Given the description of an element on the screen output the (x, y) to click on. 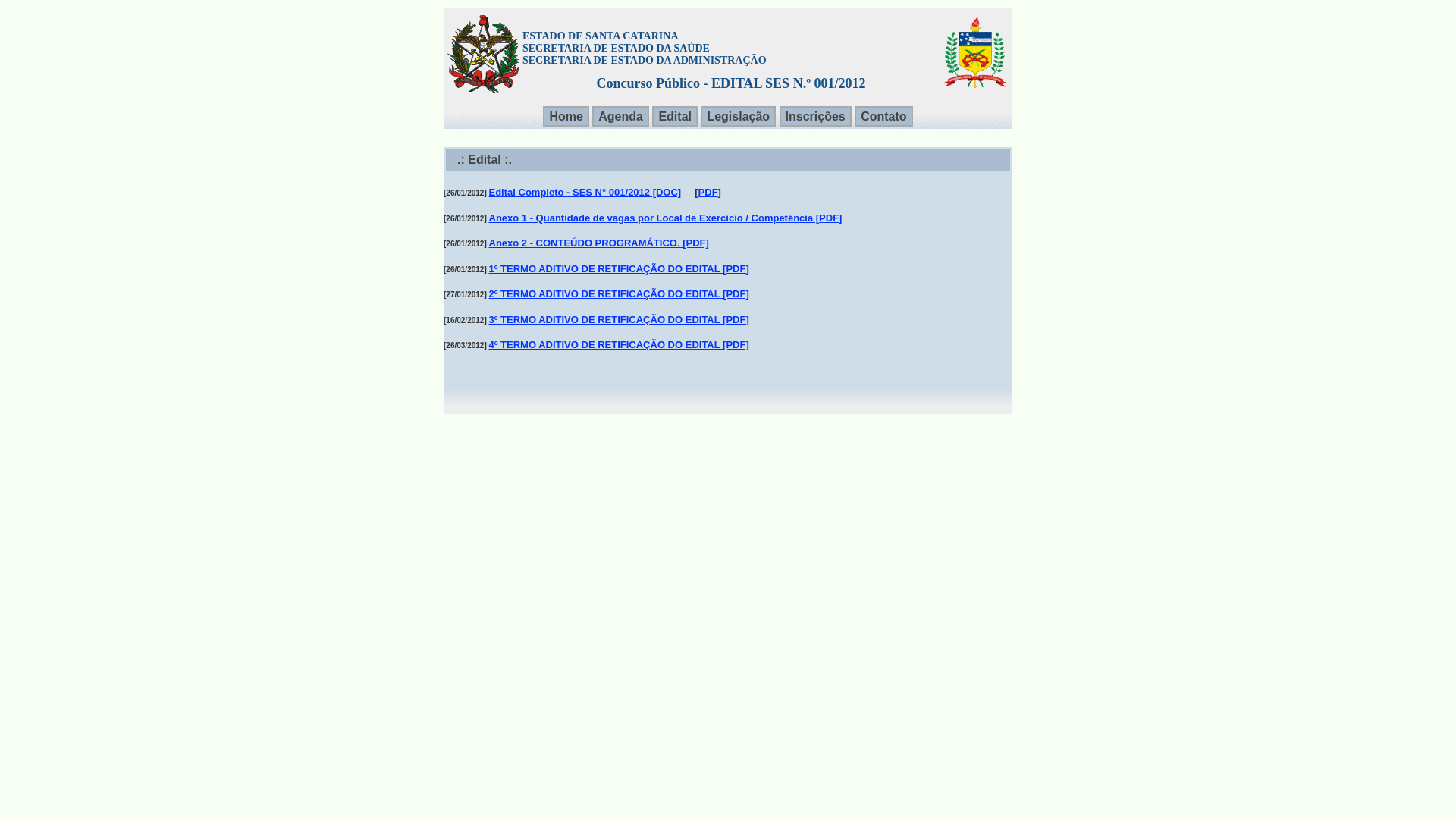
Contato Element type: text (883, 116)
Home Element type: text (565, 116)
Edital Element type: text (674, 116)
Agenda Element type: text (620, 116)
PDF Element type: text (708, 191)
